Given the description of an element on the screen output the (x, y) to click on. 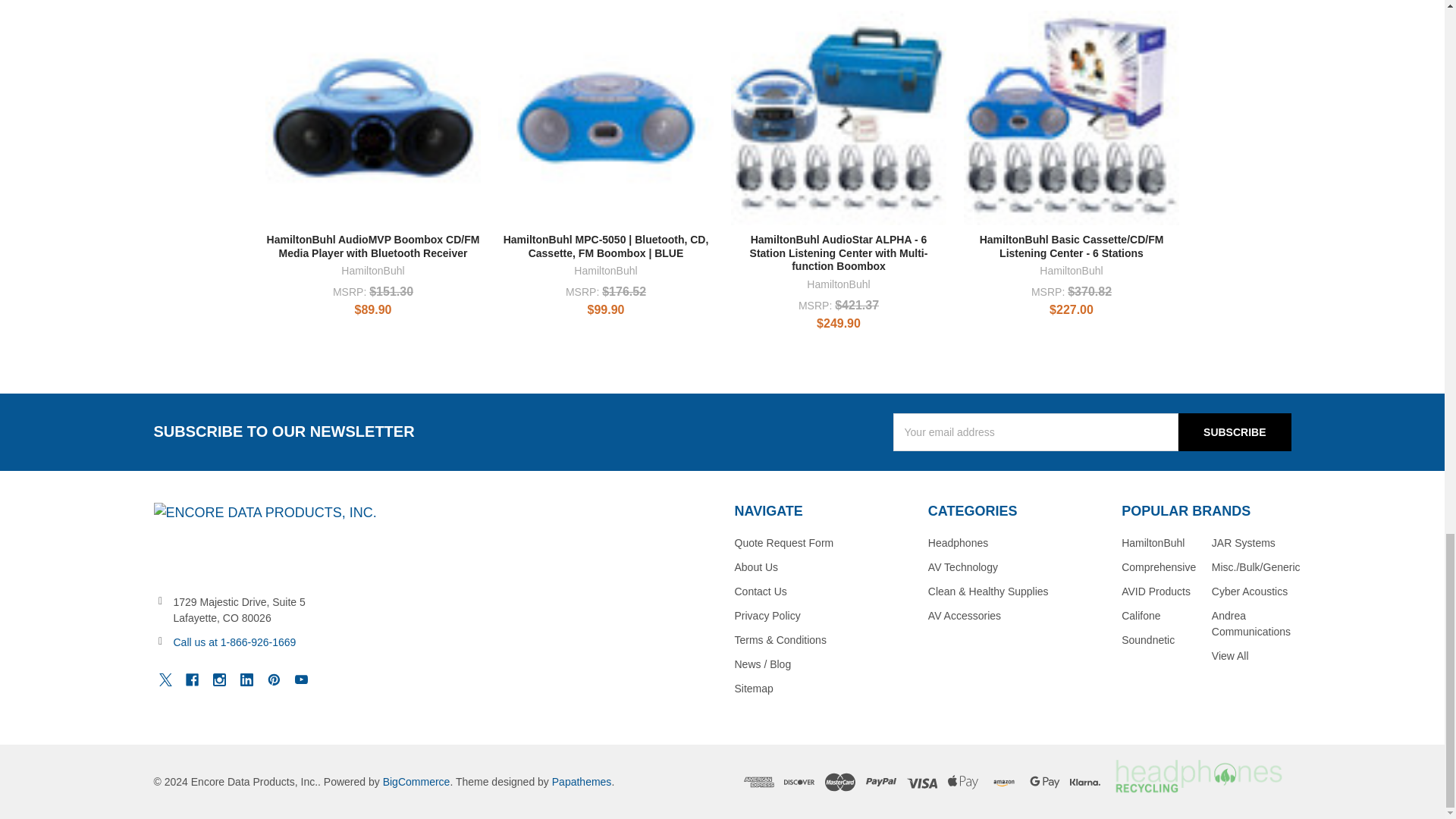
Facebook (191, 679)
Encore Data Products, Inc. (263, 540)
X (164, 679)
Subscribe (1233, 432)
